Given the description of an element on the screen output the (x, y) to click on. 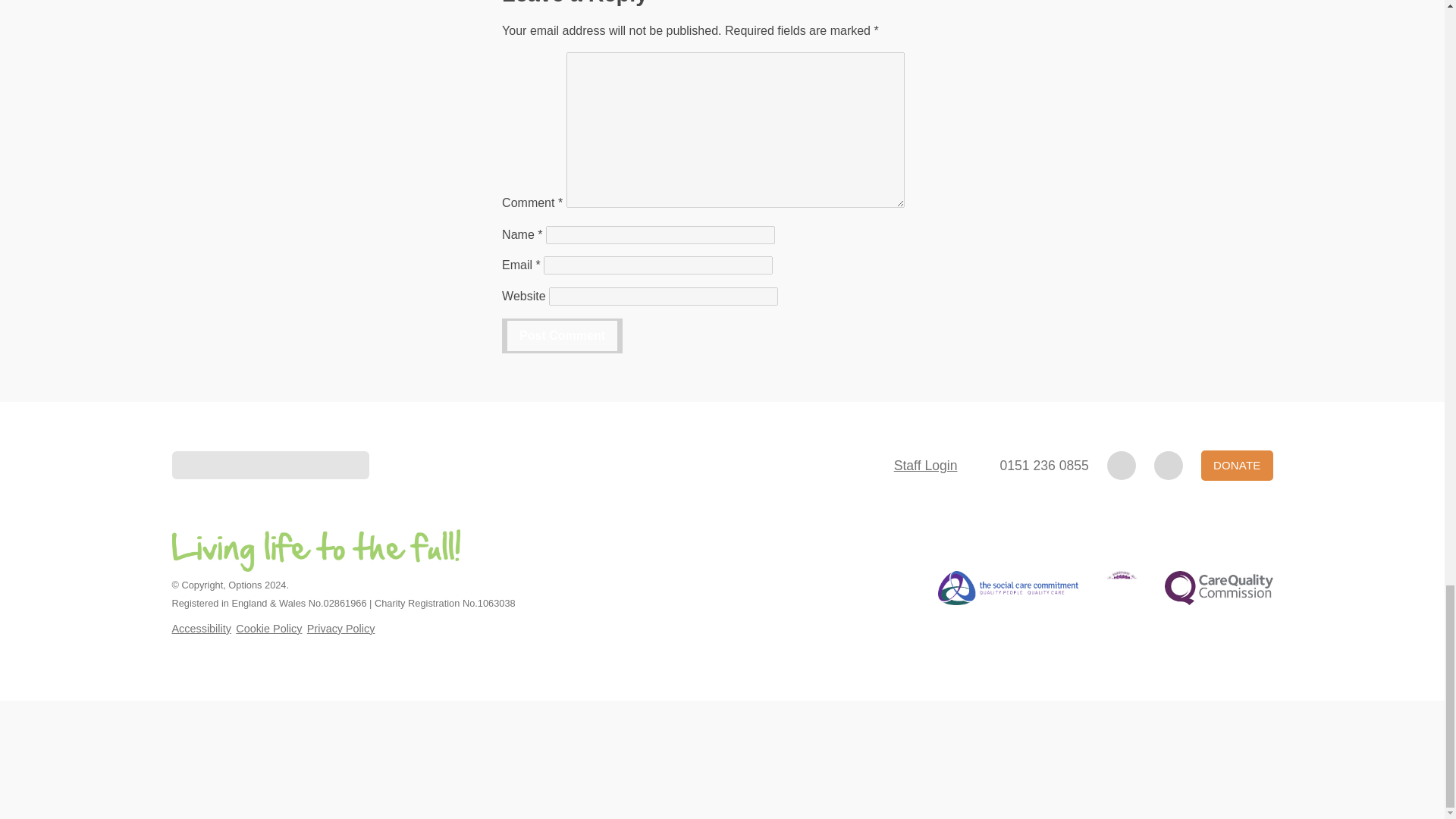
Living life to the full! (315, 550)
Cookie Policy (268, 628)
Staff Login (925, 465)
Accessibility (200, 628)
CQC (1218, 587)
York People First AAA Accreditation (1121, 587)
Privacy Policy (341, 628)
Twitter link (1168, 465)
Post Comment (562, 335)
Search (269, 465)
